Given the description of an element on the screen output the (x, y) to click on. 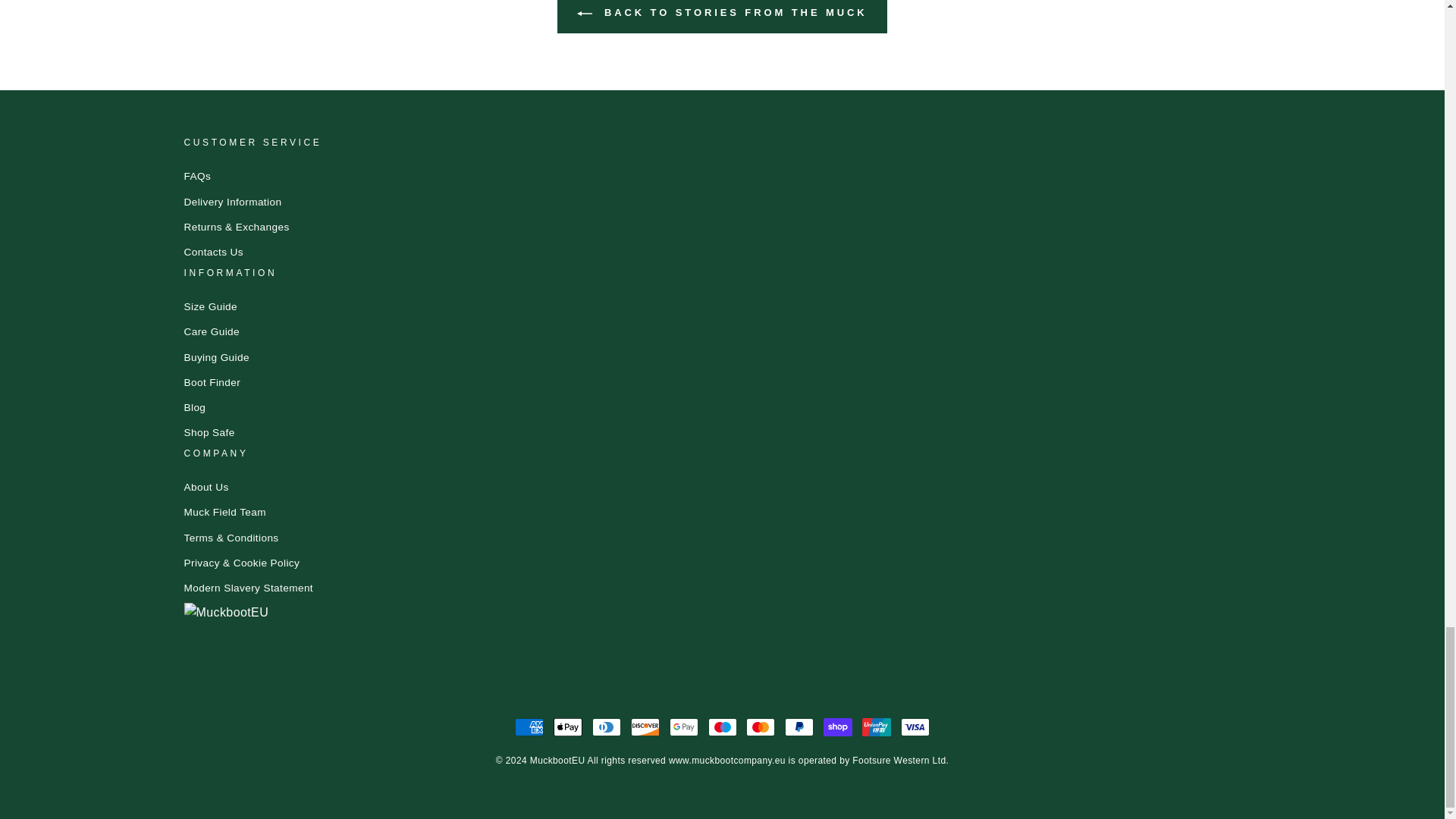
Union Pay (876, 727)
Diners Club (606, 727)
Maestro (721, 727)
Mastercard (759, 727)
PayPal (798, 727)
Shop Pay (837, 727)
Google Pay (683, 727)
Visa (915, 727)
Apple Pay (567, 727)
Discover (644, 727)
